Given the description of an element on the screen output the (x, y) to click on. 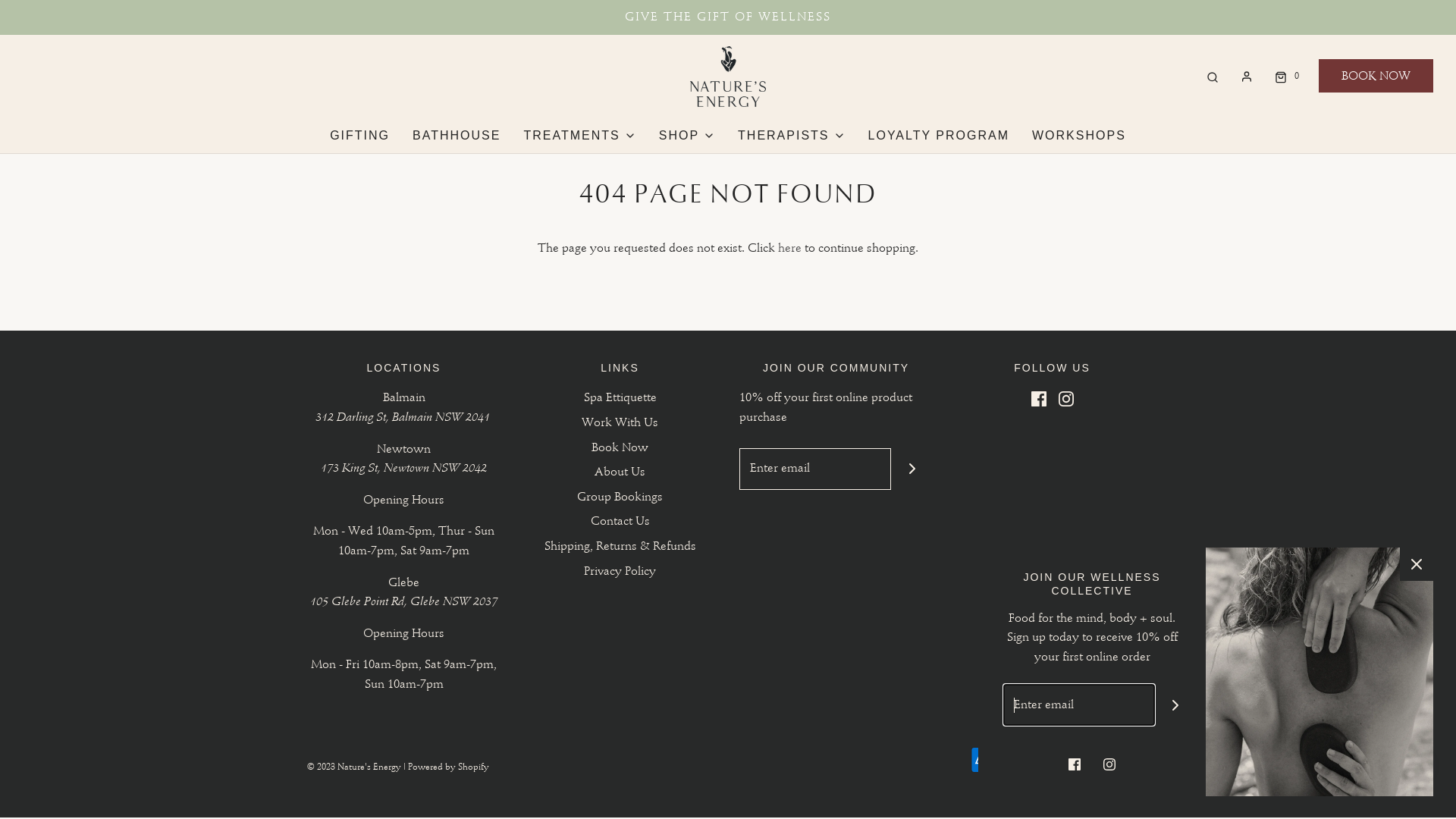
LOYALTY PROGRAM Element type: text (938, 135)
Instagram icon Element type: text (1065, 397)
Search Element type: hover (1212, 76)
Powered by Shopify Element type: text (448, 766)
Book Now Element type: text (619, 450)
Shipping, Returns & Refunds Element type: text (620, 548)
Facebook icon Element type: text (1038, 397)
About Us Element type: text (619, 474)
GIVE THE GIFT OF WELLNESS Element type: text (727, 16)
BOOK NOW Element type: text (1375, 75)
SHOP Element type: text (686, 135)
here Element type: text (789, 247)
BATHHOUSE Element type: text (456, 135)
THERAPISTS Element type: text (790, 135)
Work With Us Element type: text (619, 425)
Instagram icon Element type: text (1109, 763)
Spa Ettiquette Element type: text (619, 400)
Log in Element type: hover (1246, 76)
WORKSHOPS Element type: text (1079, 135)
Facebook icon Element type: text (1074, 763)
0 Element type: text (1285, 76)
Privacy Policy Element type: text (619, 573)
GIFTING Element type: text (359, 135)
Contact Us Element type: text (619, 523)
TREATMENTS Element type: text (579, 135)
Group Bookings Element type: text (619, 499)
